Given the description of an element on the screen output the (x, y) to click on. 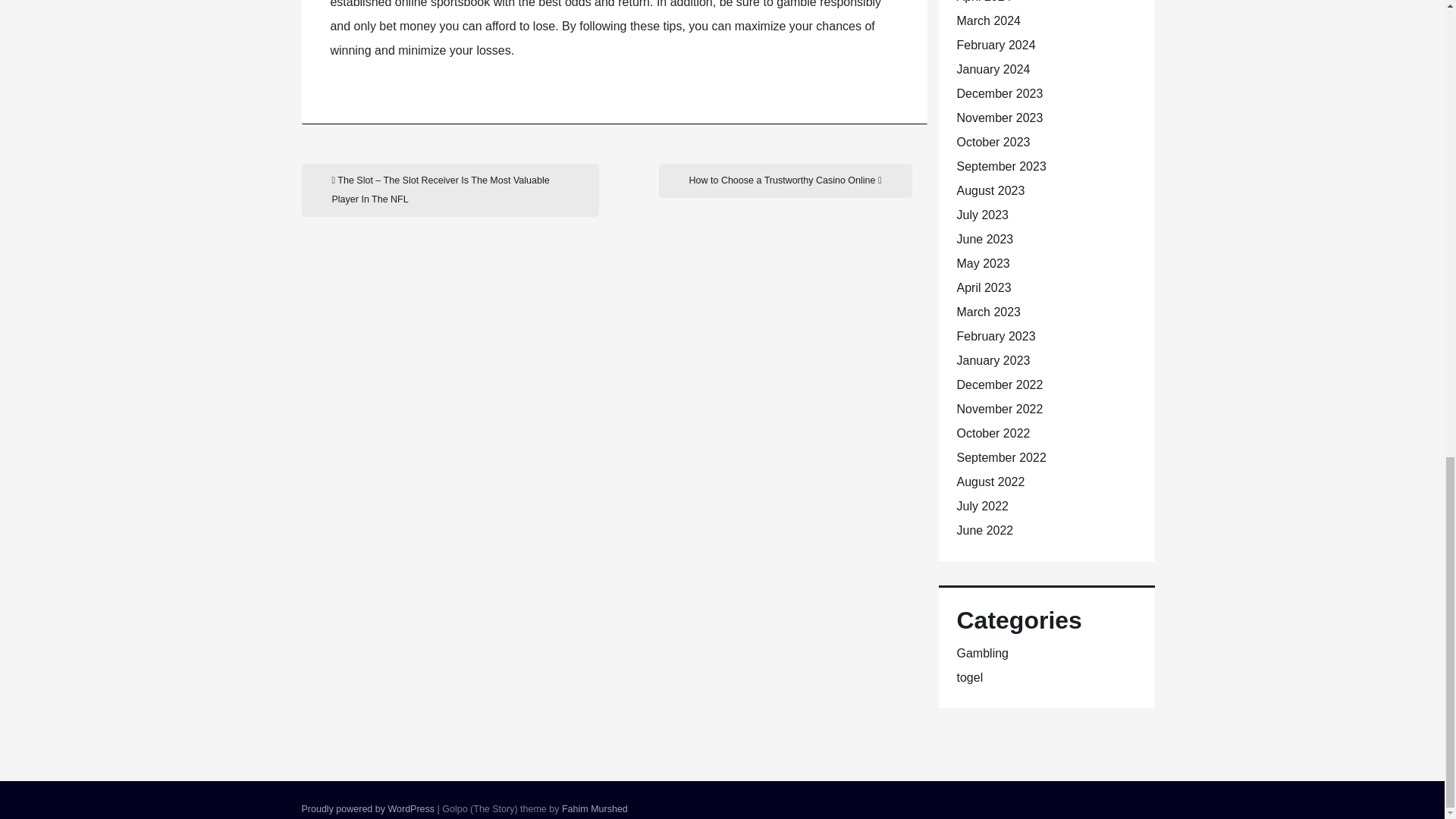
August 2023 (990, 190)
April 2024 (983, 1)
March 2024 (989, 20)
May 2023 (983, 263)
January 2023 (993, 359)
February 2024 (995, 44)
April 2023 (983, 287)
How to Choose a Trustworthy Casino Online (784, 180)
June 2023 (984, 238)
September 2023 (1001, 165)
October 2022 (993, 432)
September 2022 (1001, 457)
November 2023 (999, 117)
January 2024 (993, 69)
February 2023 (995, 336)
